Given the description of an element on the screen output the (x, y) to click on. 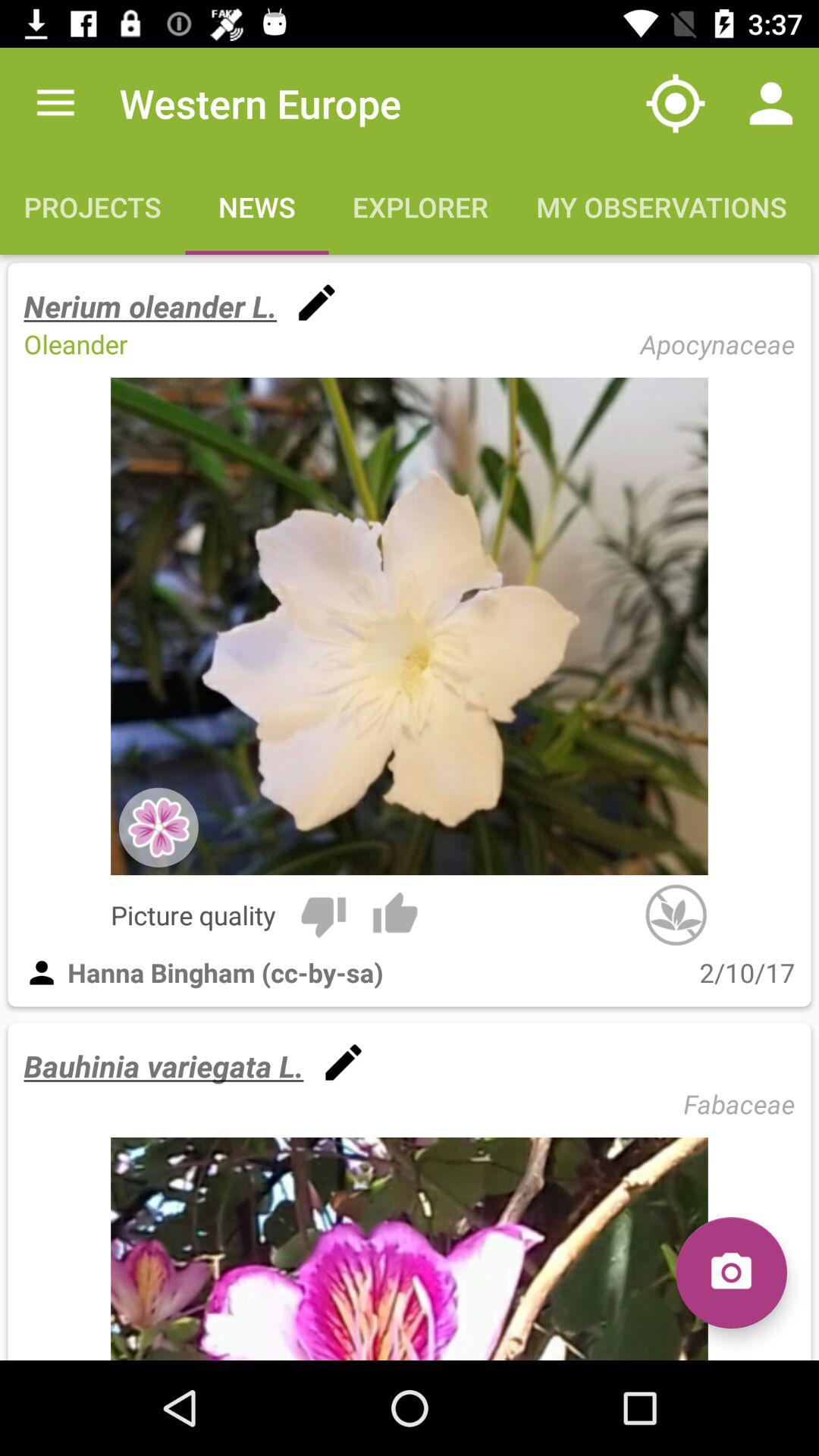
choose item on the right (676, 914)
